Given the description of an element on the screen output the (x, y) to click on. 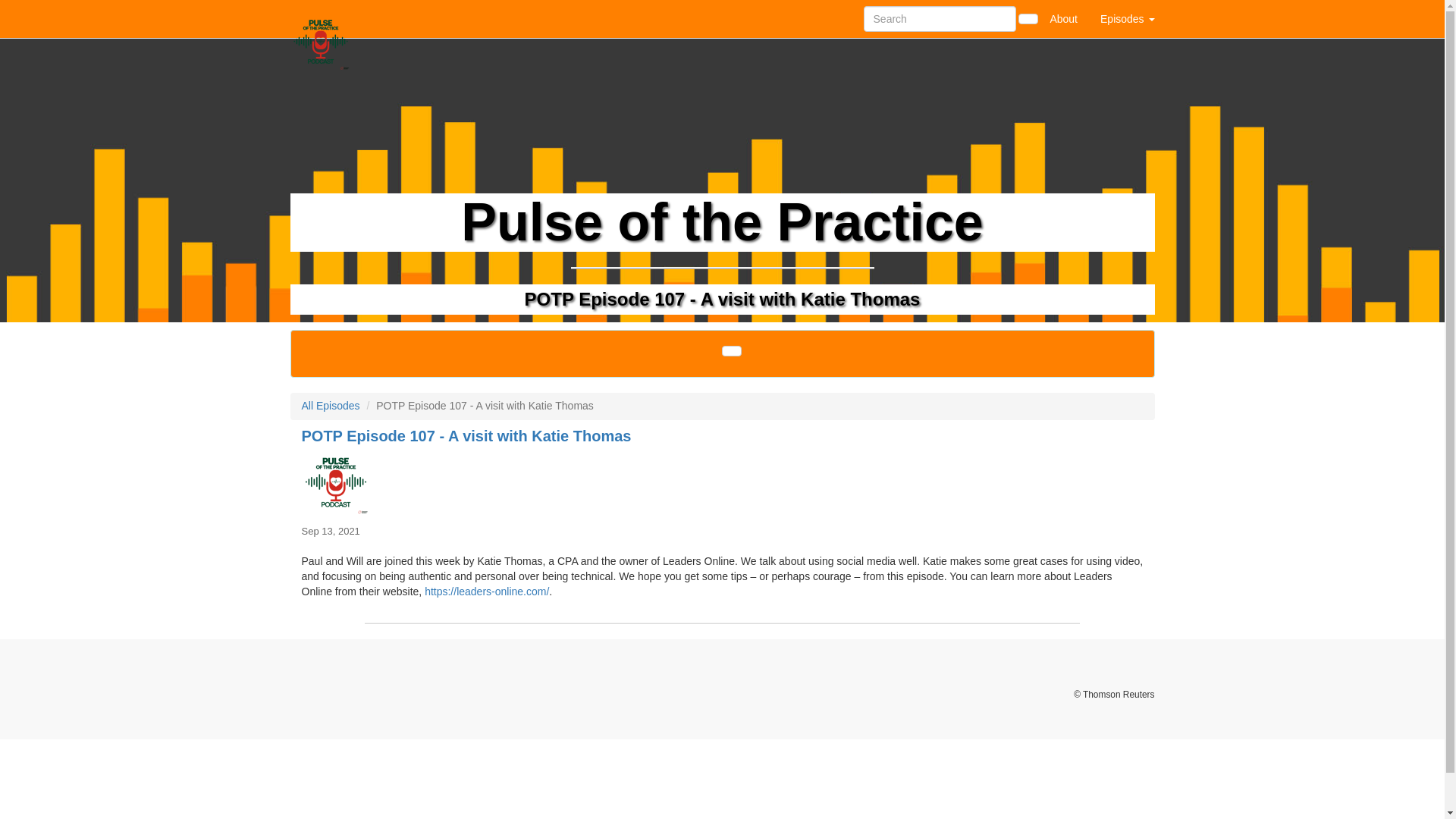
About (1063, 18)
Home Page (320, 18)
Episodes (1127, 18)
POTP Episode 107 - A visit with Katie Thomas (721, 481)
